Given the description of an element on the screen output the (x, y) to click on. 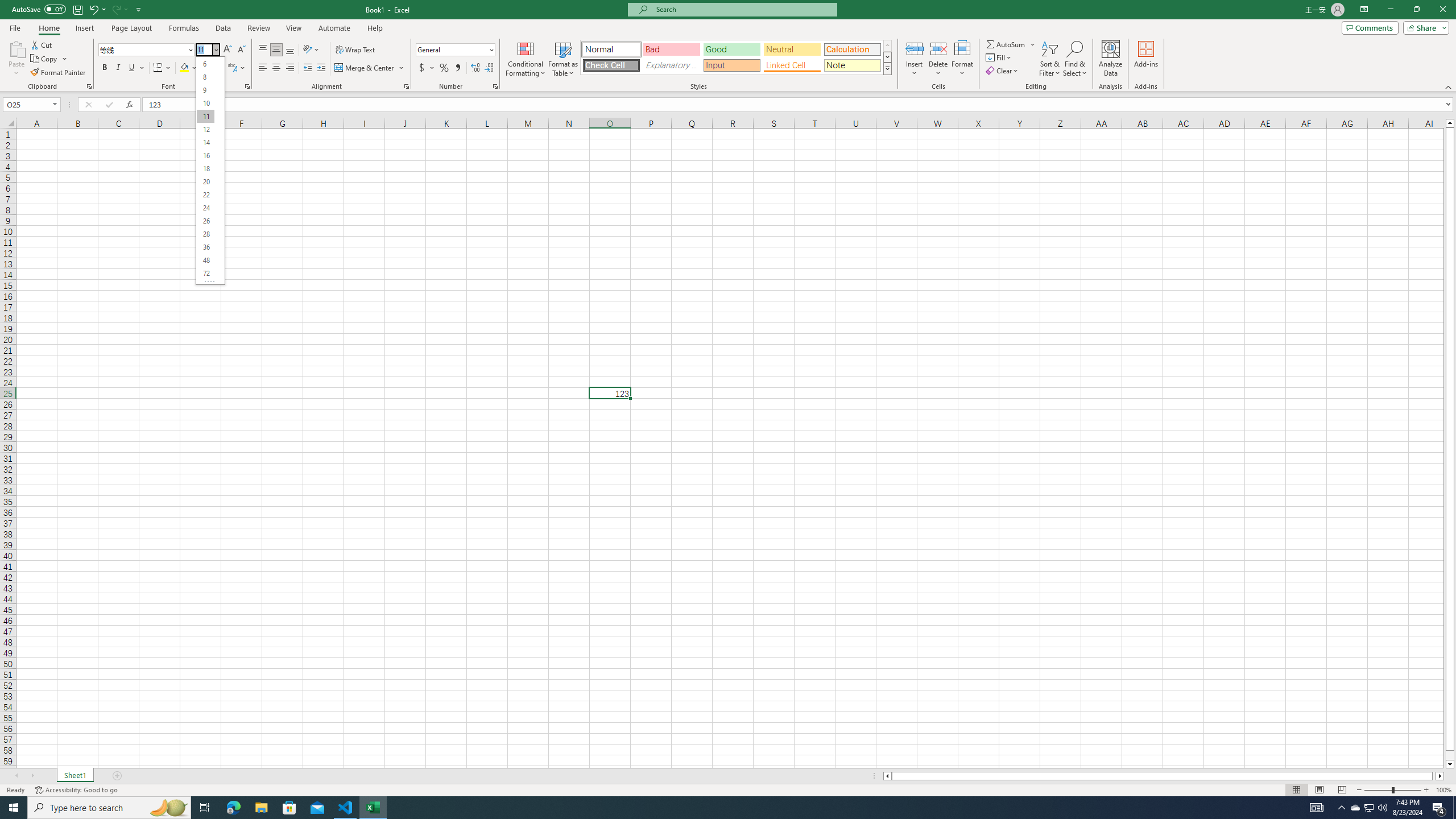
24 (205, 207)
Underline (136, 67)
Borders (162, 67)
9 (205, 89)
Merge & Center (369, 67)
Font (147, 49)
Format Cell Font (247, 85)
Bad (671, 49)
72 (205, 273)
AutoSum (1011, 44)
Cell Styles (887, 68)
48 (205, 259)
Fill (999, 56)
